Given the description of an element on the screen output the (x, y) to click on. 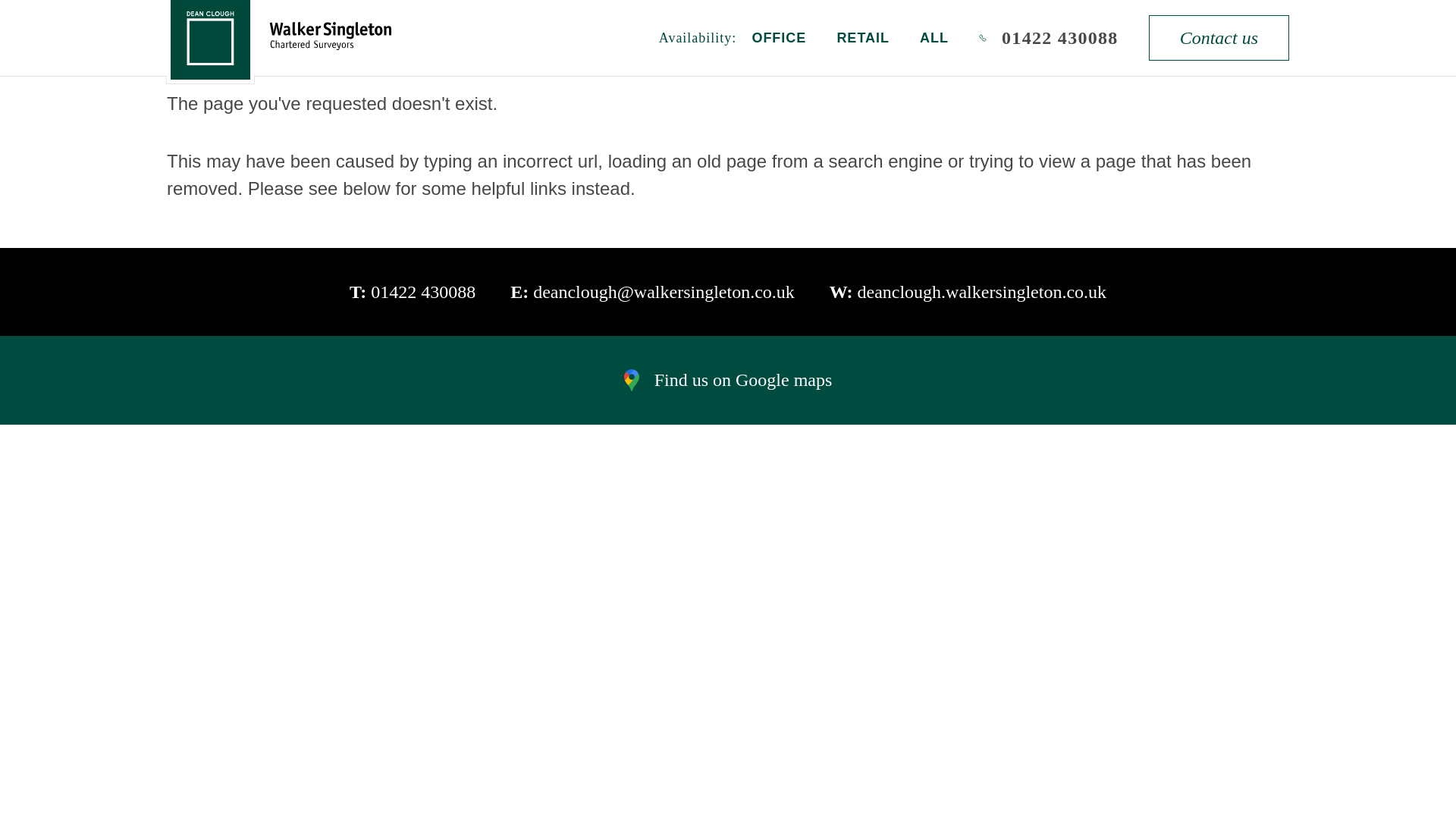
OFFICE (778, 37)
01422 430088 (1048, 37)
RETAIL (862, 37)
01422 430088 (423, 291)
Get in touch (447, 225)
ALL (934, 37)
Back to Home Page (269, 225)
deanclough.walkersingleton.co.uk (981, 291)
Contact us (1218, 37)
